Given the description of an element on the screen output the (x, y) to click on. 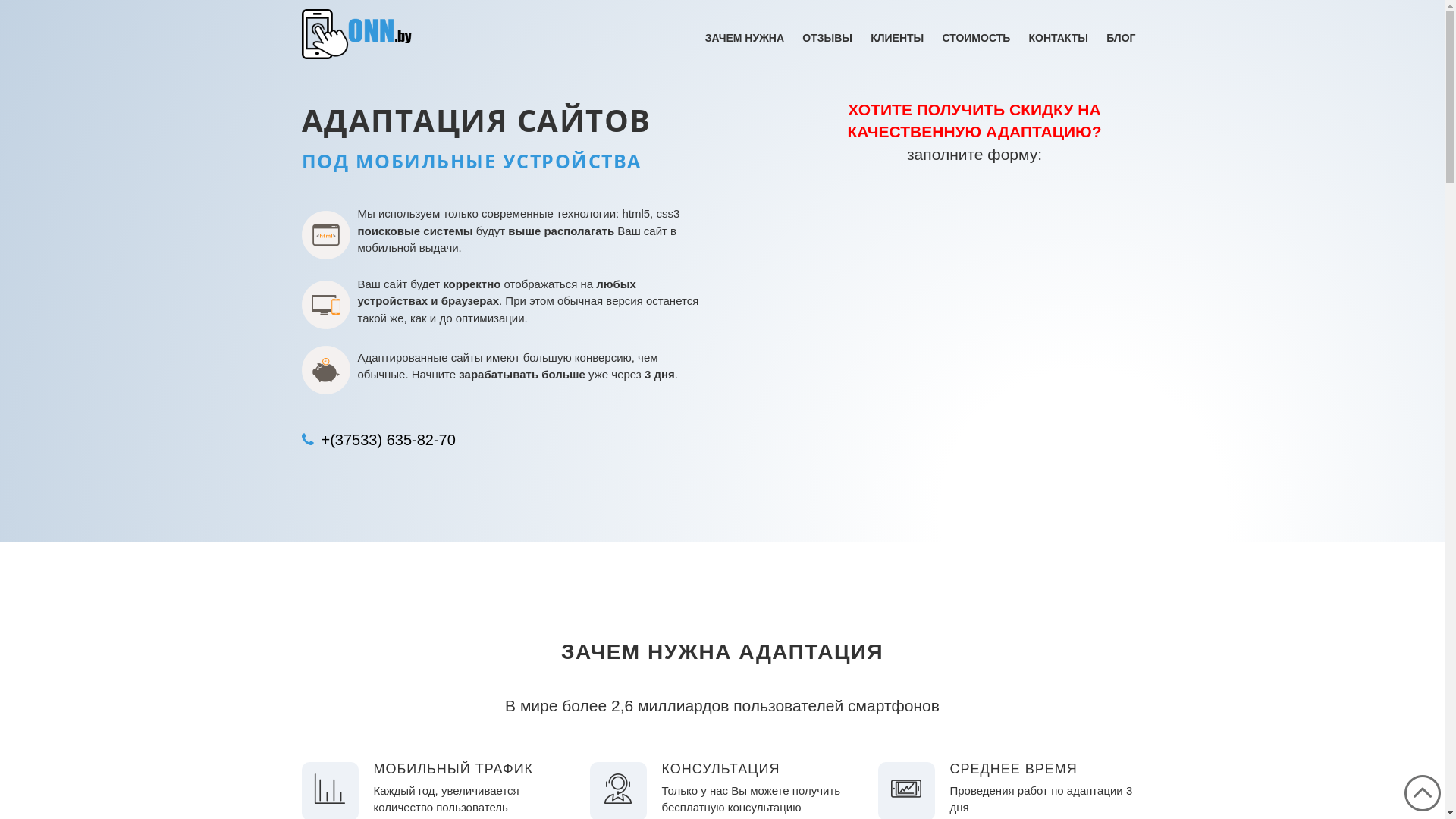
Back to top Element type: text (1422, 793)
onn.by Element type: hover (357, 34)
+(37533) 635-82-70 Element type: text (384, 439)
